Given the description of an element on the screen output the (x, y) to click on. 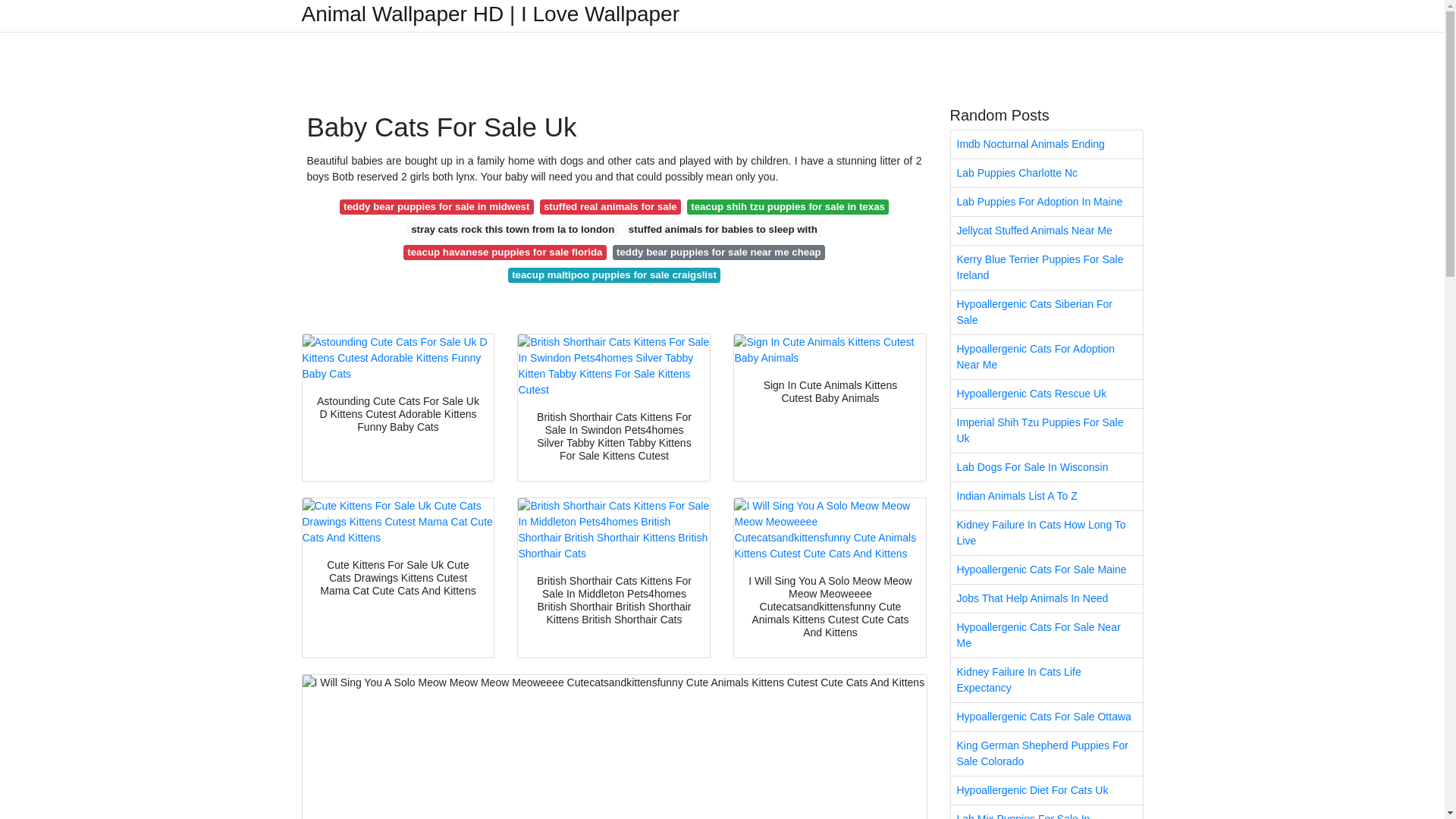
Hypoallergenic Cats Siberian For Sale (1046, 312)
Kerry Blue Terrier Puppies For Sale Ireland (1046, 267)
stuffed animals for babies to sleep with (723, 229)
Lab Dogs For Sale In Wisconsin (1046, 467)
teacup shih tzu puppies for sale in texas (787, 206)
teacup havanese puppies for sale florida (505, 252)
Imdb Nocturnal Animals Ending (1046, 144)
Hypoallergenic Cats For Adoption Near Me (1046, 356)
teddy bear puppies for sale near me cheap (718, 252)
stuffed real animals for sale (610, 206)
stray cats rock this town from la to london (512, 229)
Jellycat Stuffed Animals Near Me (1046, 230)
Hypoallergenic Cats Rescue Uk (1046, 393)
Lab Puppies For Adoption In Maine (1046, 202)
Imperial Shih Tzu Puppies For Sale Uk (1046, 430)
